Given the description of an element on the screen output the (x, y) to click on. 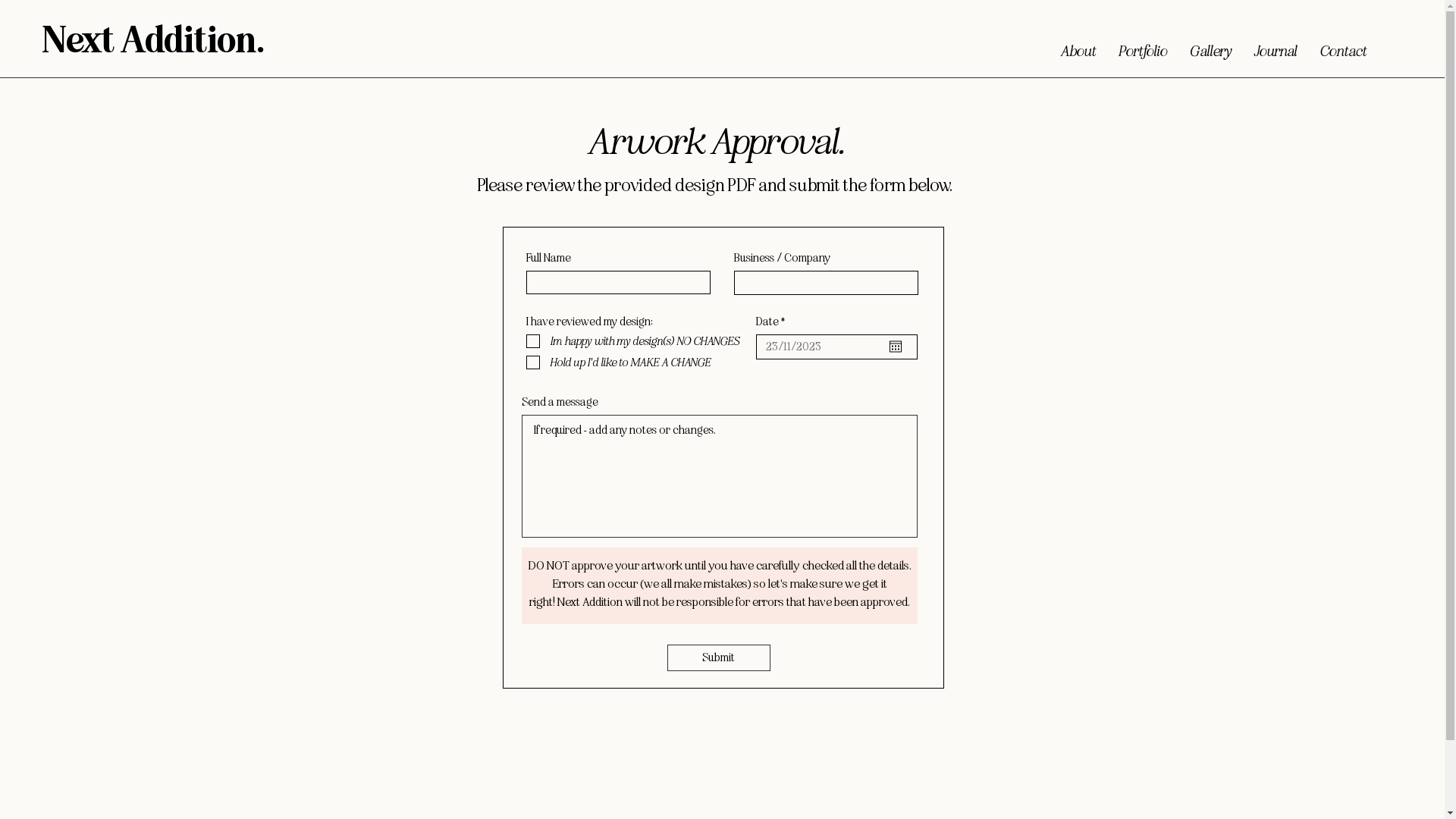
Journal Element type: text (1275, 47)
Submit Element type: text (718, 657)
Next Addition. Element type: text (153, 41)
About Element type: text (1077, 47)
Portfolio Element type: text (1142, 47)
Gallery Element type: text (1210, 47)
Contact Element type: text (1342, 47)
